Given the description of an element on the screen output the (x, y) to click on. 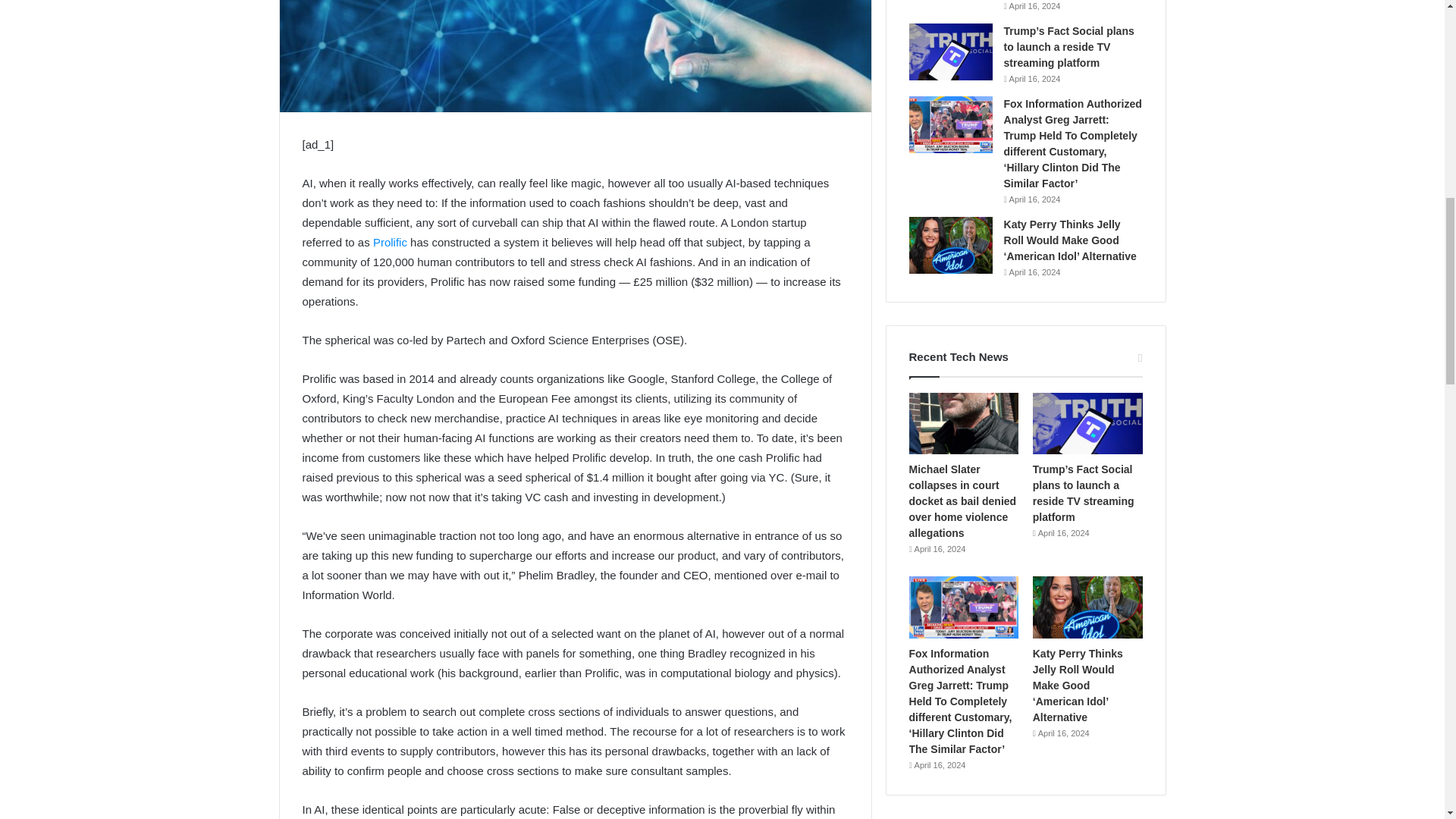
Prolific (389, 241)
